Given the description of an element on the screen output the (x, y) to click on. 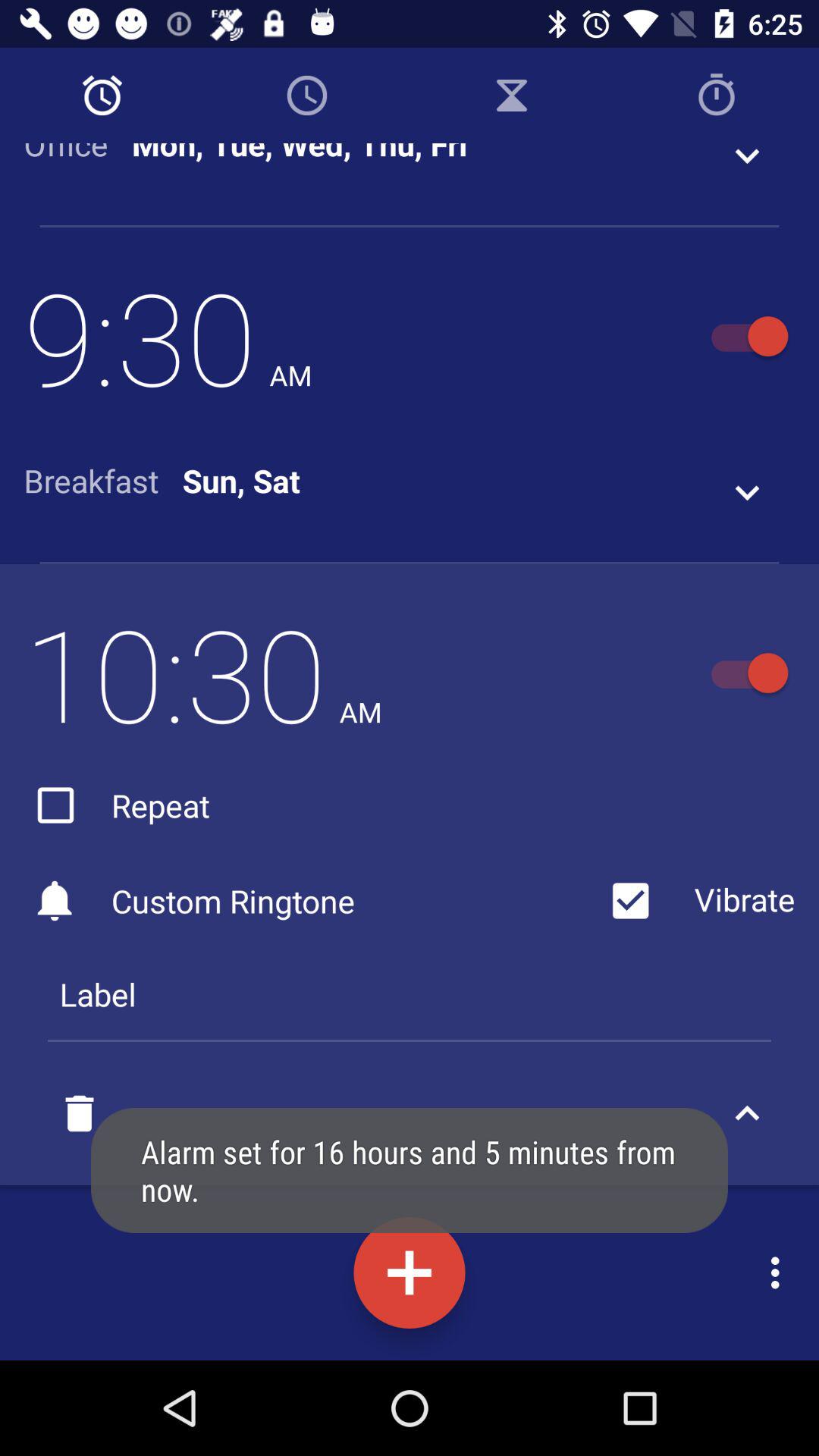
click item next to custom ringtone (696, 900)
